Given the description of an element on the screen output the (x, y) to click on. 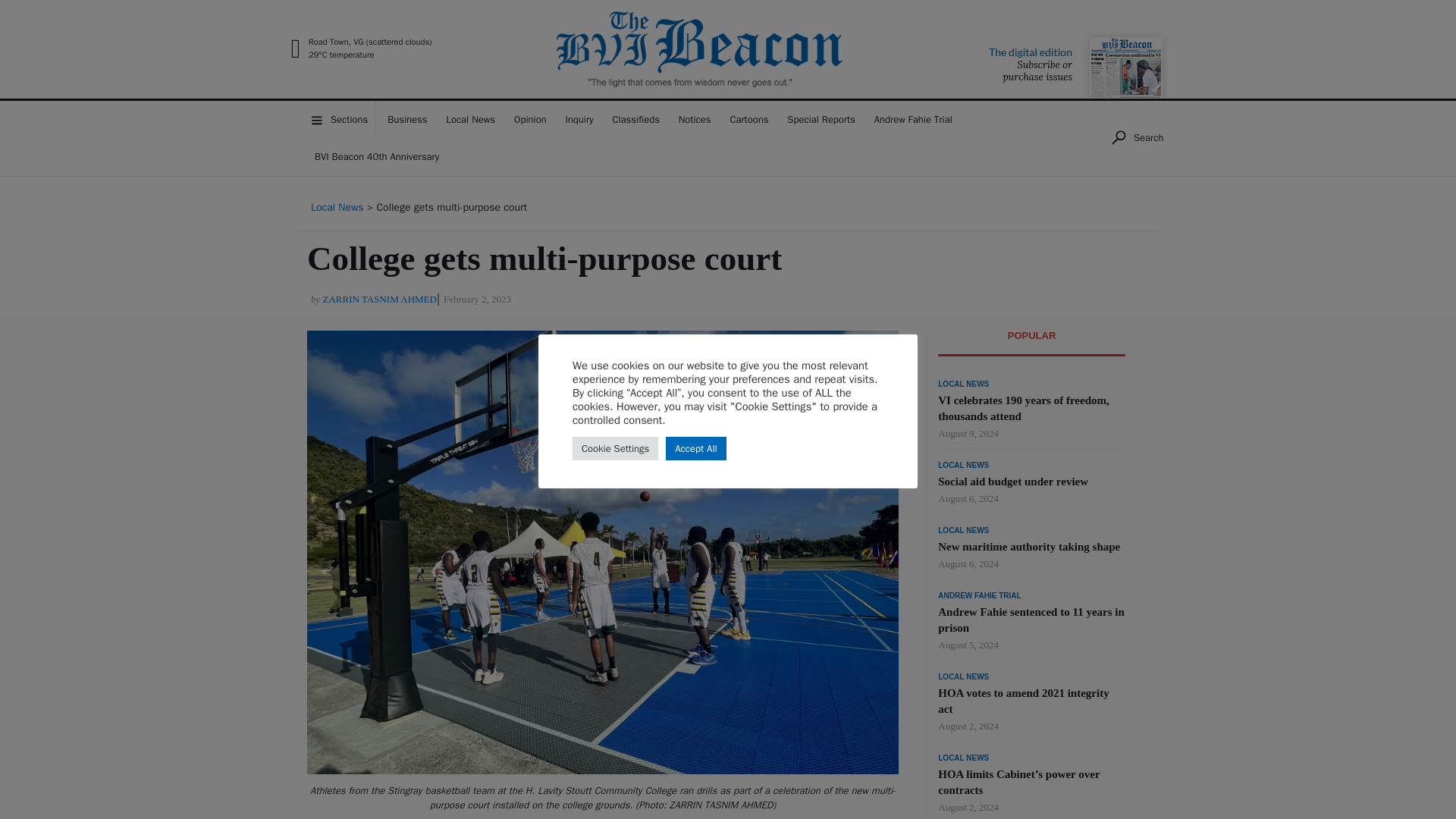
LOCAL NEWS (962, 465)
VI celebrates 190 years of freedom, thousands attend (1022, 407)
HOA votes to amend 2021 integrity act (1022, 700)
LOCAL NEWS (962, 757)
Classifieds (635, 119)
Local News (337, 206)
Business (406, 119)
New maritime authority taking shape (1028, 546)
LOCAL NEWS (962, 530)
BVI Beacon 40th Anniversary (376, 157)
